Given the description of an element on the screen output the (x, y) to click on. 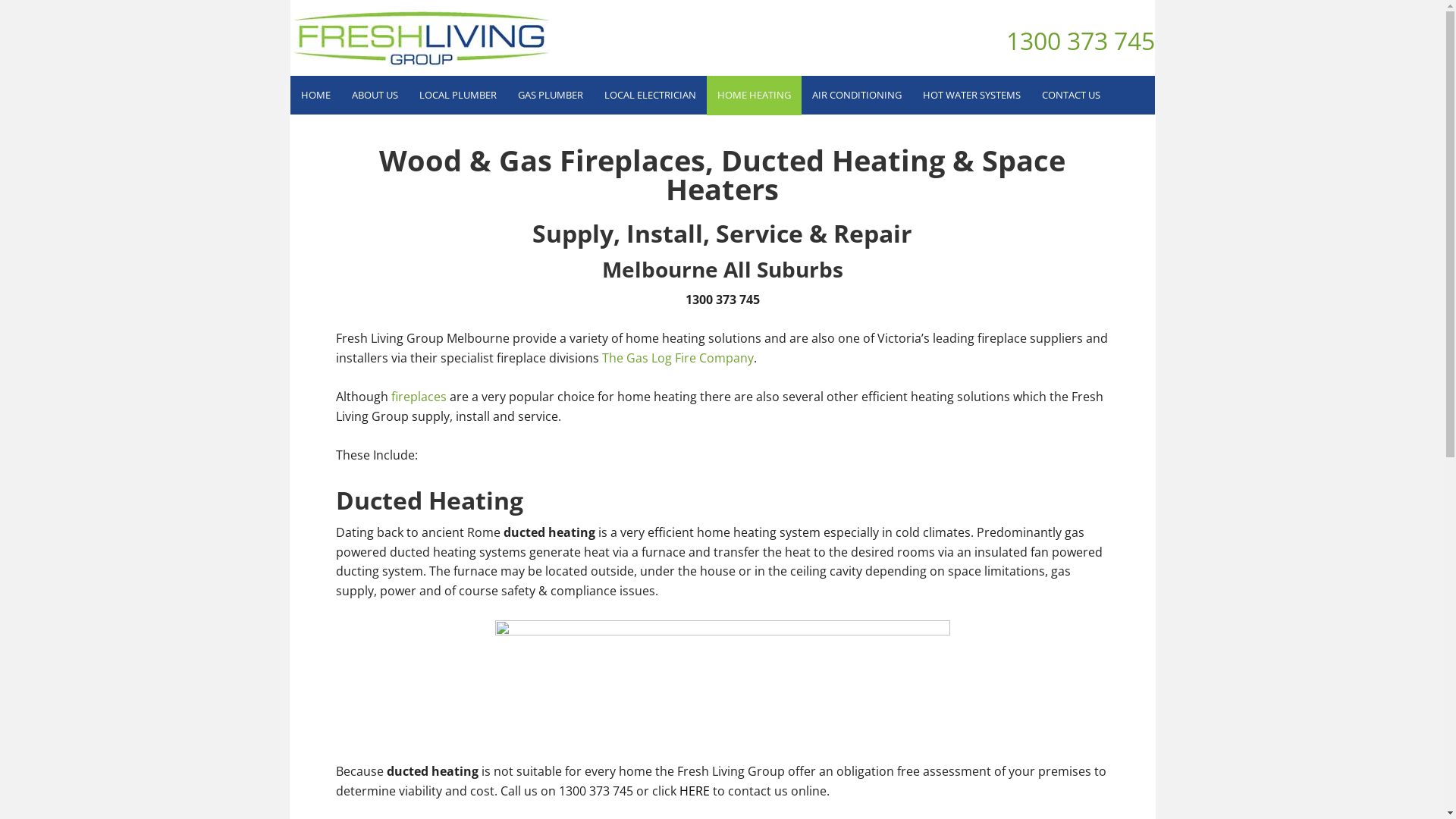
GAS PLUMBER Element type: text (549, 95)
LOCAL ELECTRICIAN Element type: text (649, 95)
fireplaces Element type: text (418, 396)
The Gas Log Fire Company Element type: text (677, 357)
HERE Element type: text (694, 790)
HOME Element type: text (314, 95)
1300 373 745 Element type: text (1079, 40)
CONTACT US Element type: text (1070, 95)
ABOUT US Element type: text (374, 95)
Fresh Living Group Element type: text (422, 37)
LOCAL PLUMBER Element type: text (456, 95)
AIR CONDITIONING Element type: text (855, 95)
HOT WATER SYSTEMS Element type: text (970, 95)
HOME HEATING Element type: text (753, 95)
